Given the description of an element on the screen output the (x, y) to click on. 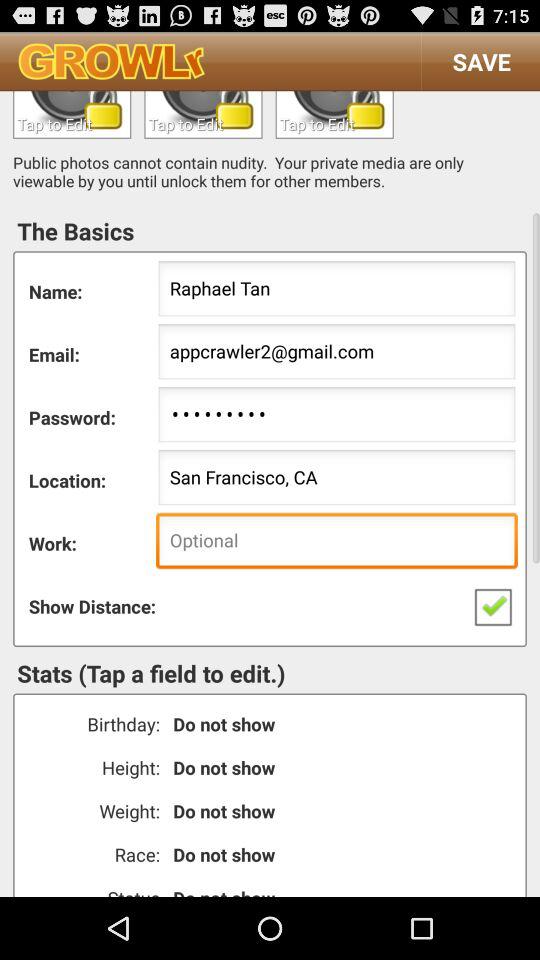
edit options (72, 114)
